Given the description of an element on the screen output the (x, y) to click on. 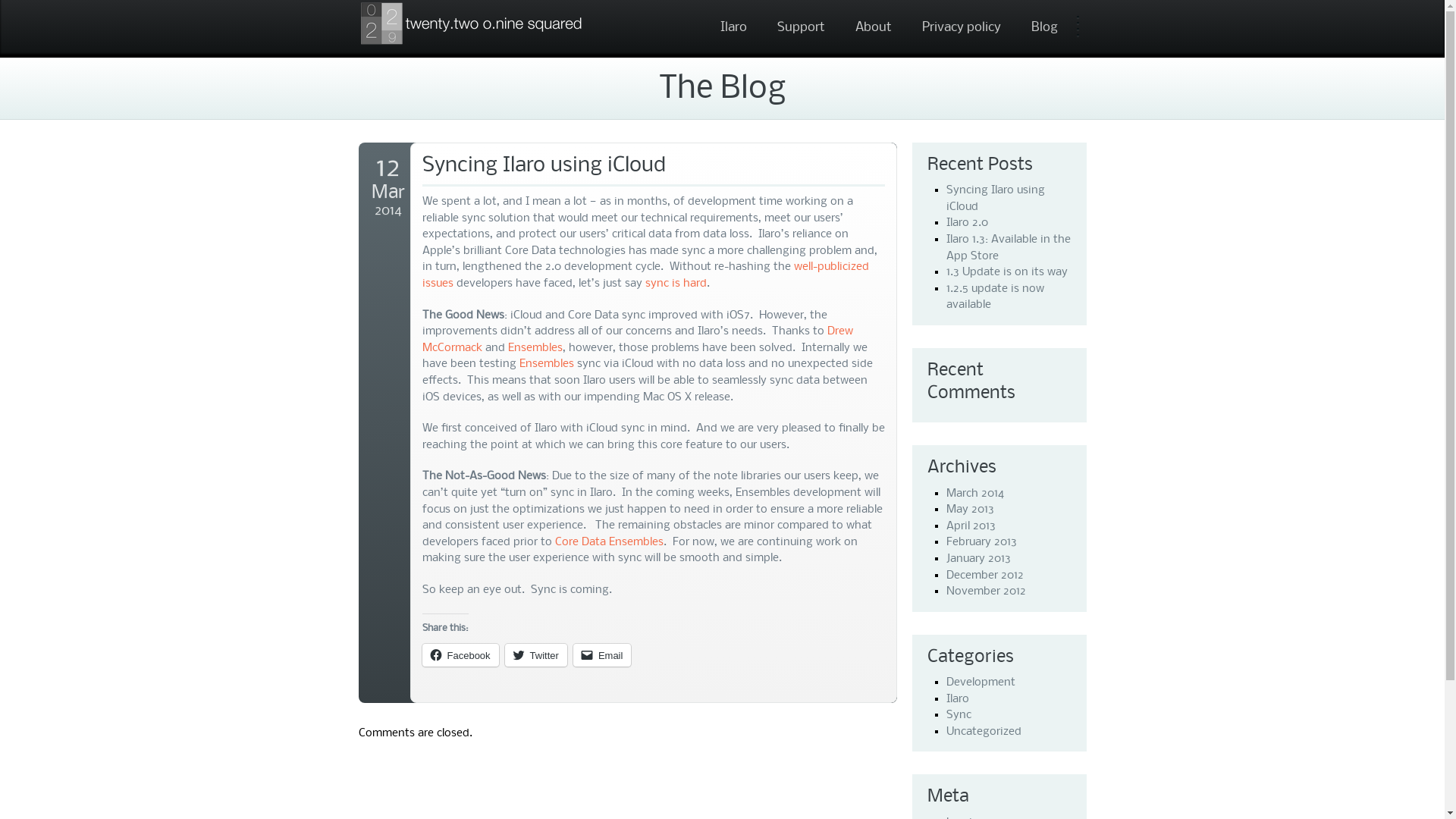
Ilaro Element type: text (957, 699)
Blog Element type: text (1043, 27)
Ilaro Element type: text (732, 27)
February 2013 Element type: text (981, 542)
Ilaro 2.0 Element type: text (967, 222)
November 2012 Element type: text (986, 591)
Twitter Element type: text (536, 654)
sync is hard Element type: text (675, 283)
December 2012 Element type: text (984, 575)
March 2014 Element type: text (975, 493)
Development Element type: text (980, 682)
Core Data Ensembles Element type: text (609, 542)
Drew McCormack Element type: text (636, 339)
Ensembles Element type: text (535, 348)
May 2013 Element type: text (970, 509)
Privacy policy Element type: text (960, 27)
1.2.5 update is now available Element type: text (995, 296)
Email Element type: text (602, 654)
Support Element type: text (800, 27)
Ilaro 1.3: Available in the App Store Element type: text (1008, 247)
well-publicized issues Element type: text (644, 274)
Ensembles Element type: text (545, 363)
Uncategorized Element type: text (983, 731)
About Element type: text (872, 27)
Syncing Ilaro using iCloud Element type: text (995, 198)
Sync Element type: text (958, 715)
Facebook Element type: text (459, 654)
1.3 Update is on its way Element type: text (1006, 272)
April 2013 Element type: text (970, 526)
January 2013 Element type: text (978, 558)
Syncing Ilaro using iCloud Element type: text (652, 170)
